Given the description of an element on the screen output the (x, y) to click on. 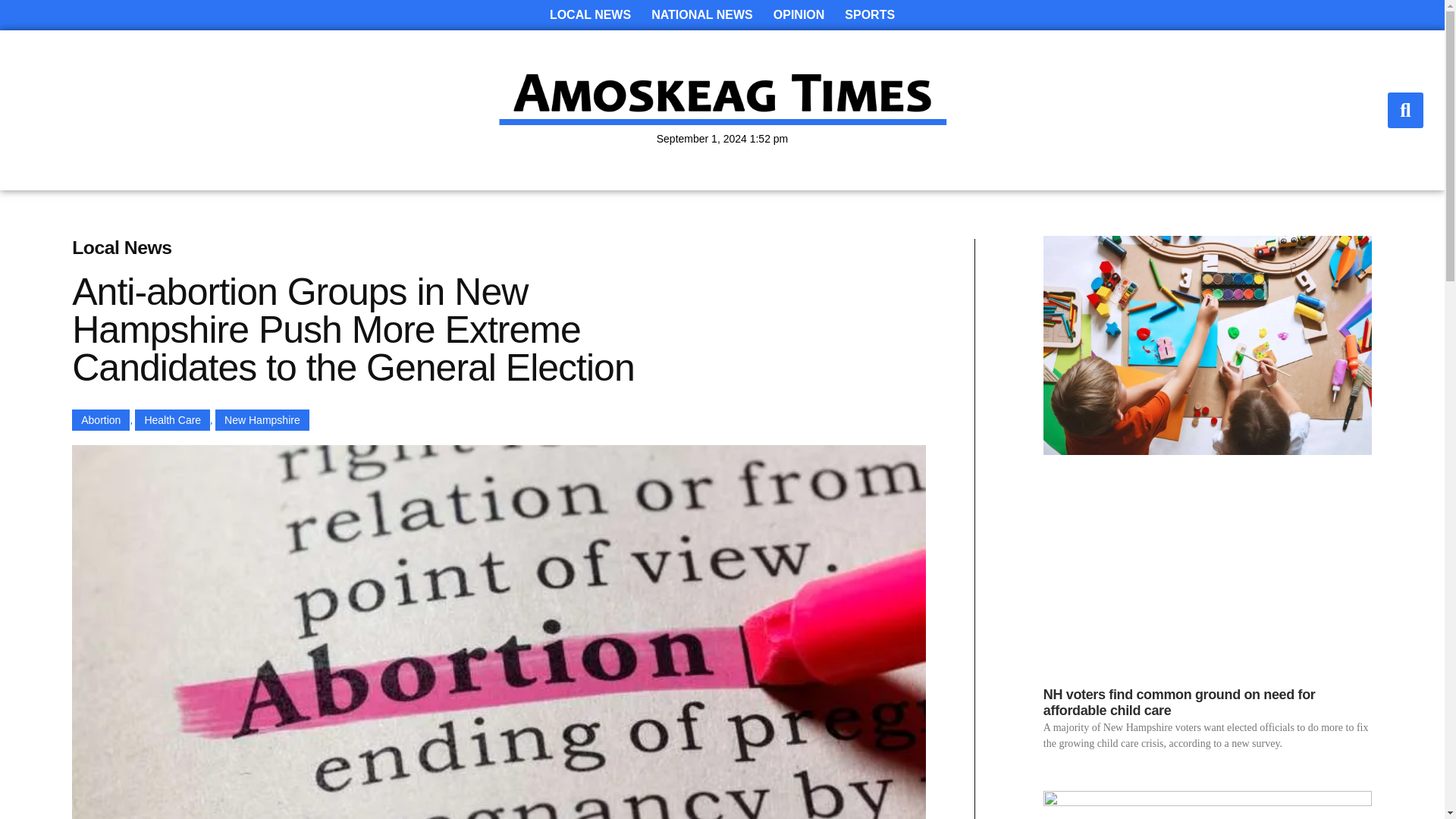
LOCAL NEWS (590, 15)
OPINION (798, 15)
SPORTS (869, 15)
Health Care (172, 419)
New Hampshire (261, 419)
NATIONAL NEWS (701, 15)
Abortion (100, 419)
